Given the description of an element on the screen output the (x, y) to click on. 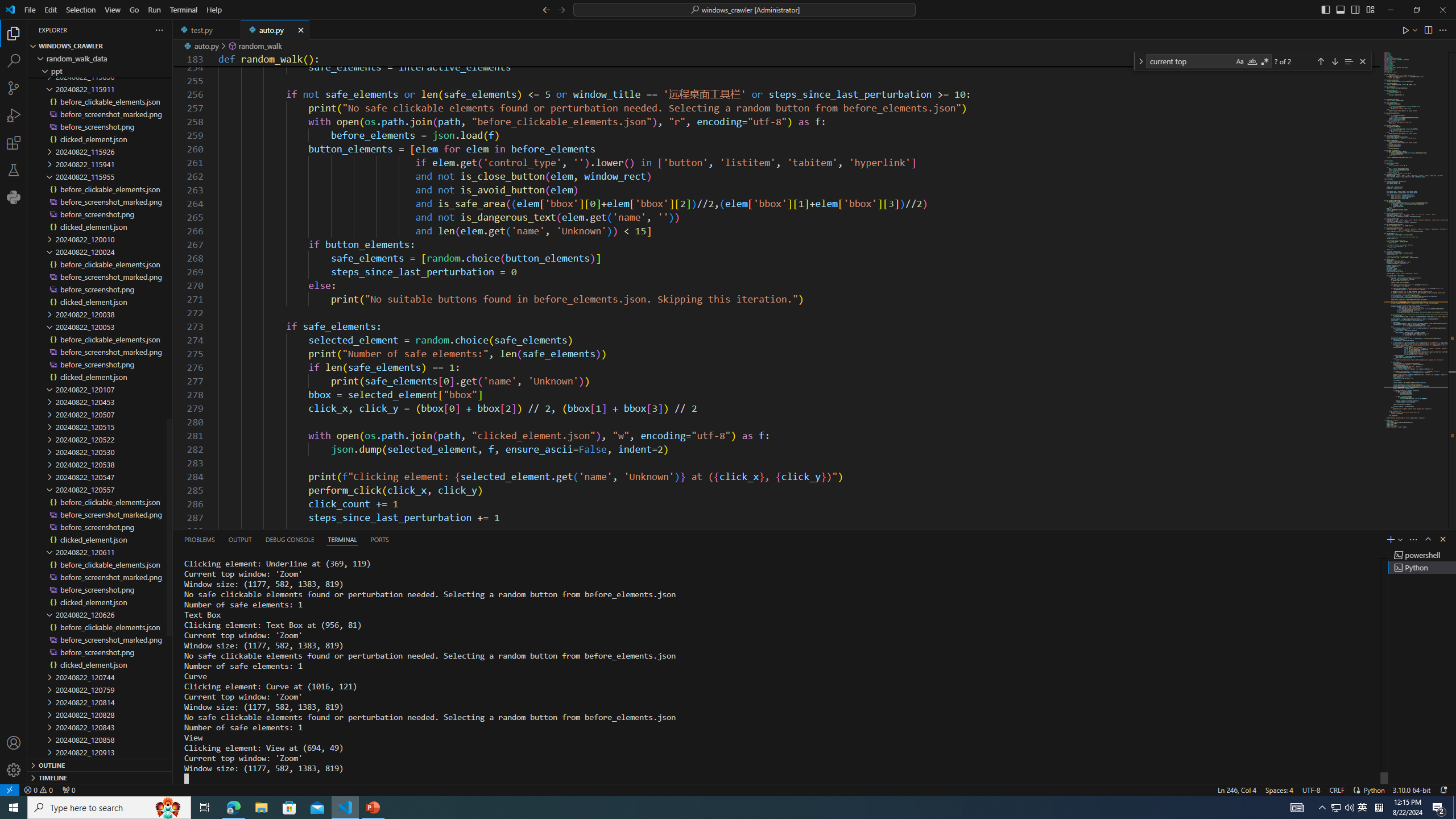
Timeline Section (99, 777)
Close (Escape) (1362, 60)
Notifications (1443, 789)
Maximize Panel Size (1428, 539)
Output (Ctrl+Shift+U) (240, 539)
Ports (380, 539)
Use Regular Expression (Alt+R) (1265, 61)
Hide Panel (1442, 539)
Toggle Replace (1140, 61)
Tab actions (300, 29)
Terminal actions (909, 539)
Match Case (Alt+C) (1239, 61)
Restore (1416, 9)
test.py (207, 29)
